Given the description of an element on the screen output the (x, y) to click on. 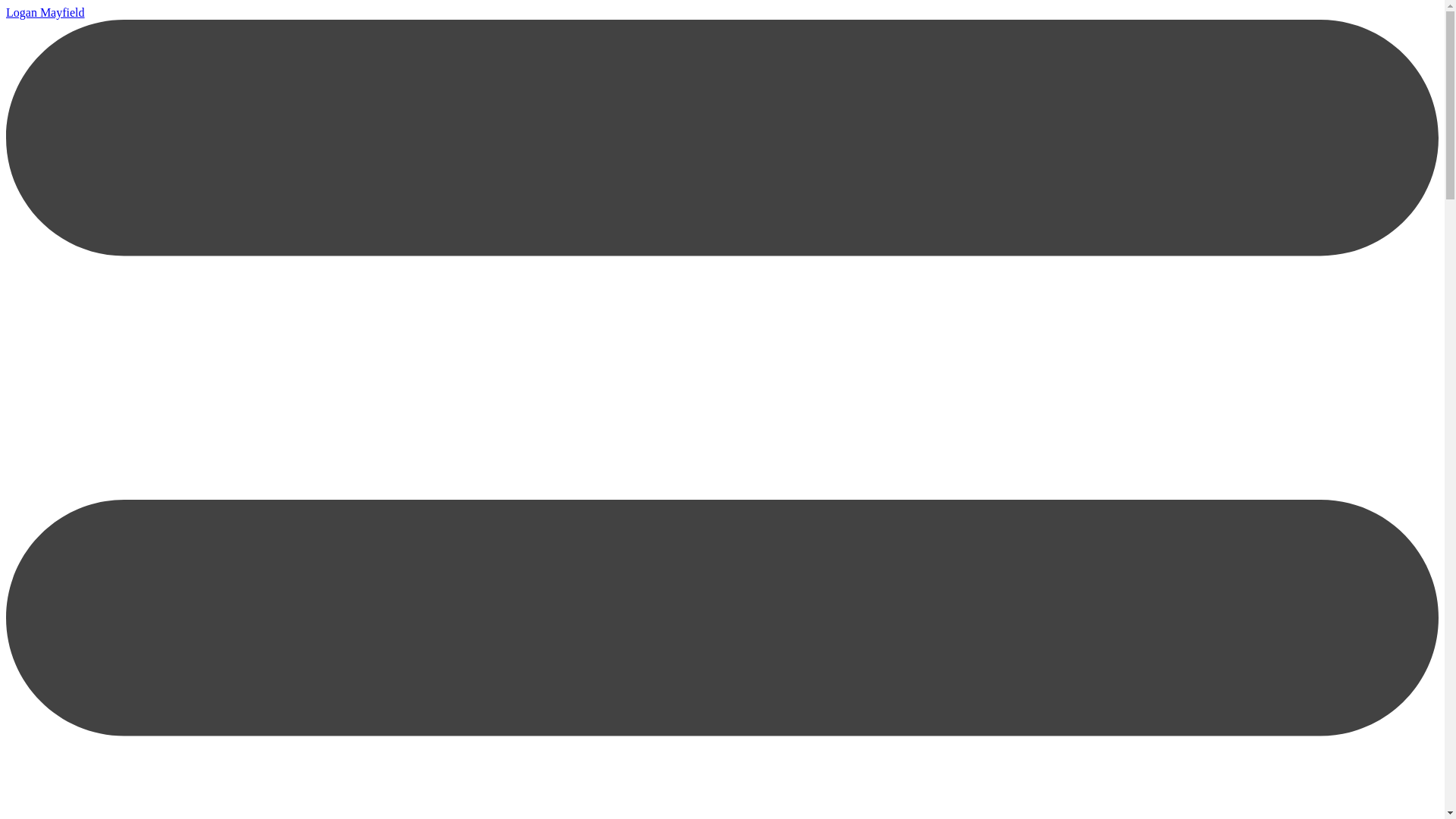
Logan Mayfield (44, 11)
